Given the description of an element on the screen output the (x, y) to click on. 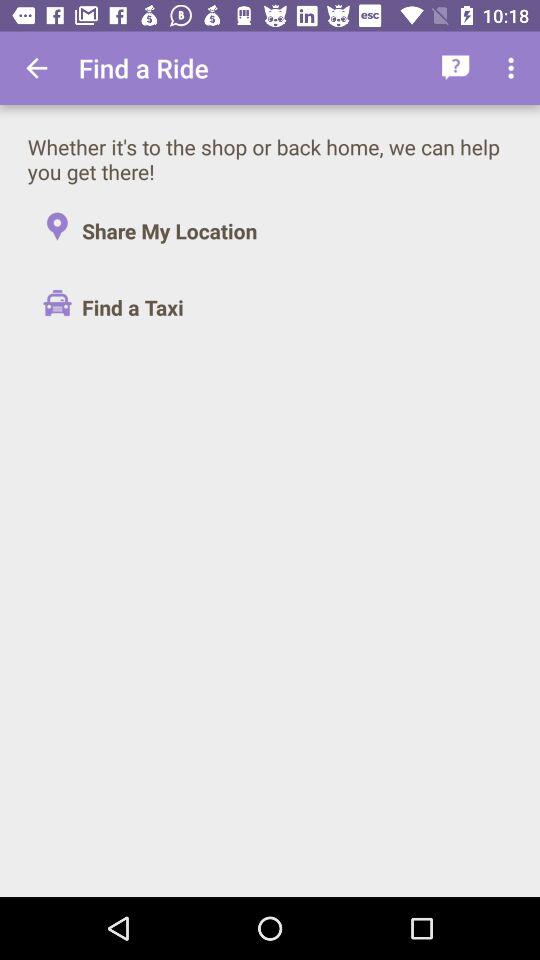
press the app next to the find a ride (36, 68)
